Given the description of an element on the screen output the (x, y) to click on. 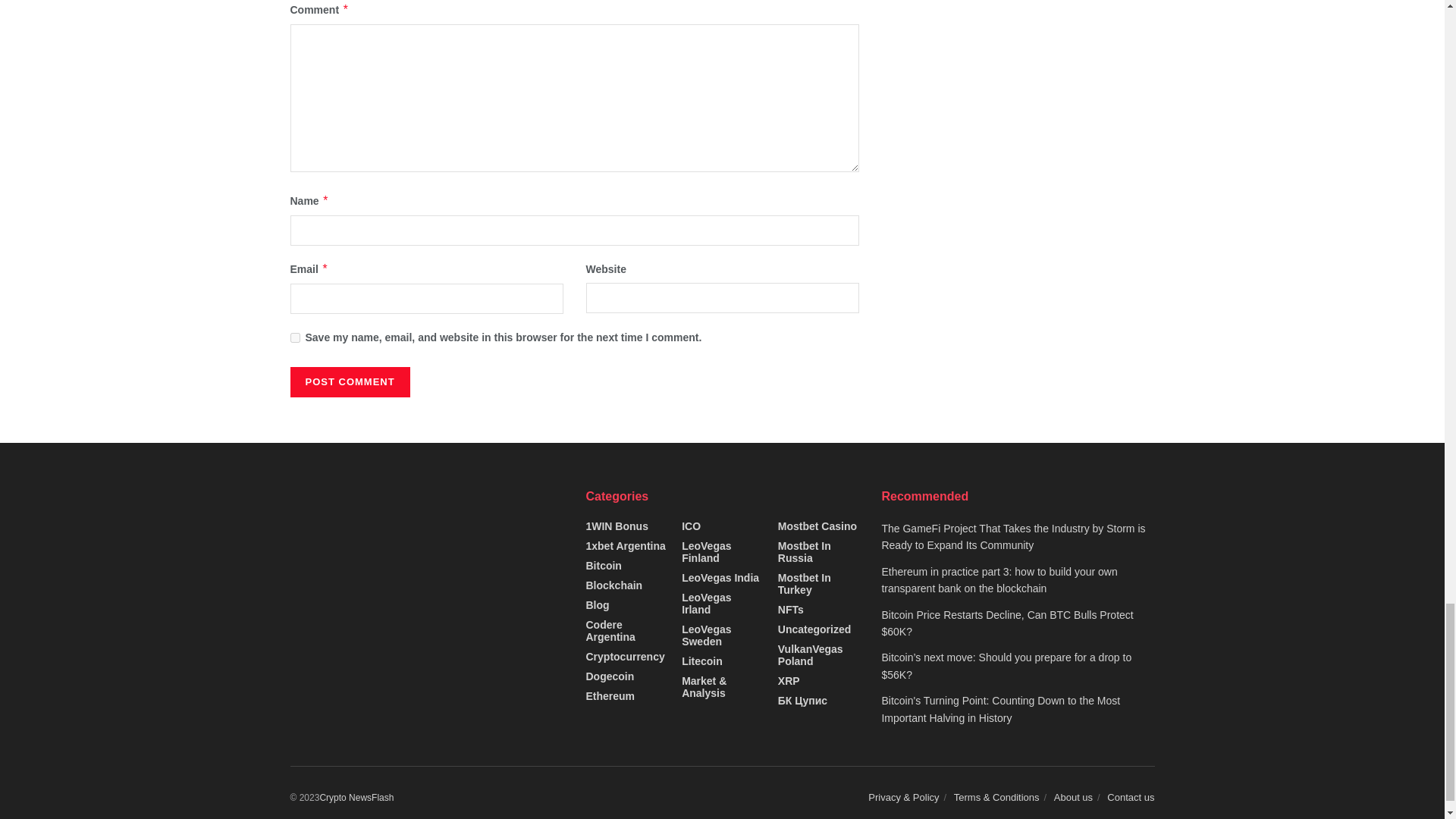
yes (294, 337)
Post Comment (349, 381)
Premium news  (355, 797)
